Given the description of an element on the screen output the (x, y) to click on. 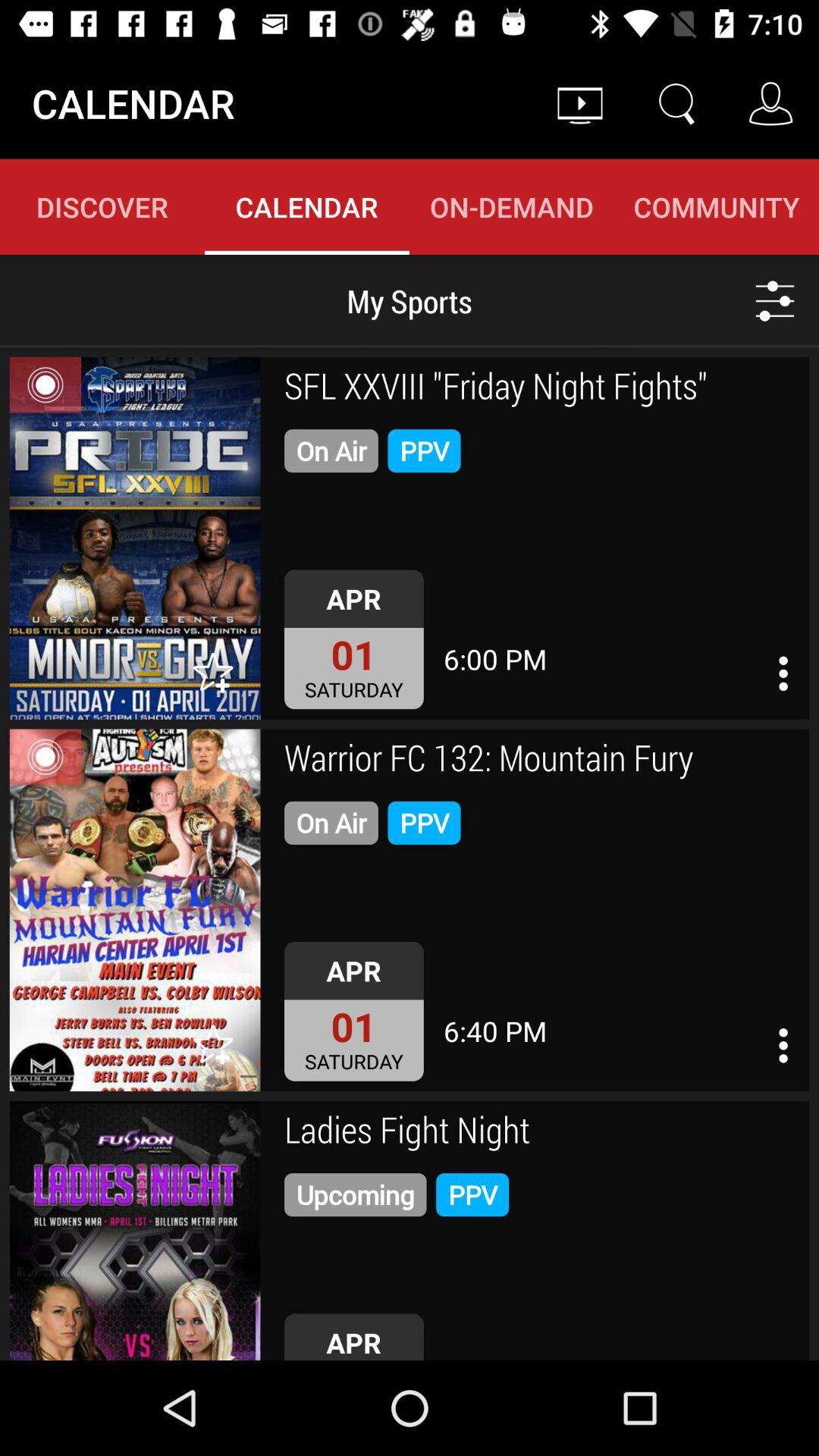
turn on the item below the saturday (541, 760)
